Given the description of an element on the screen output the (x, y) to click on. 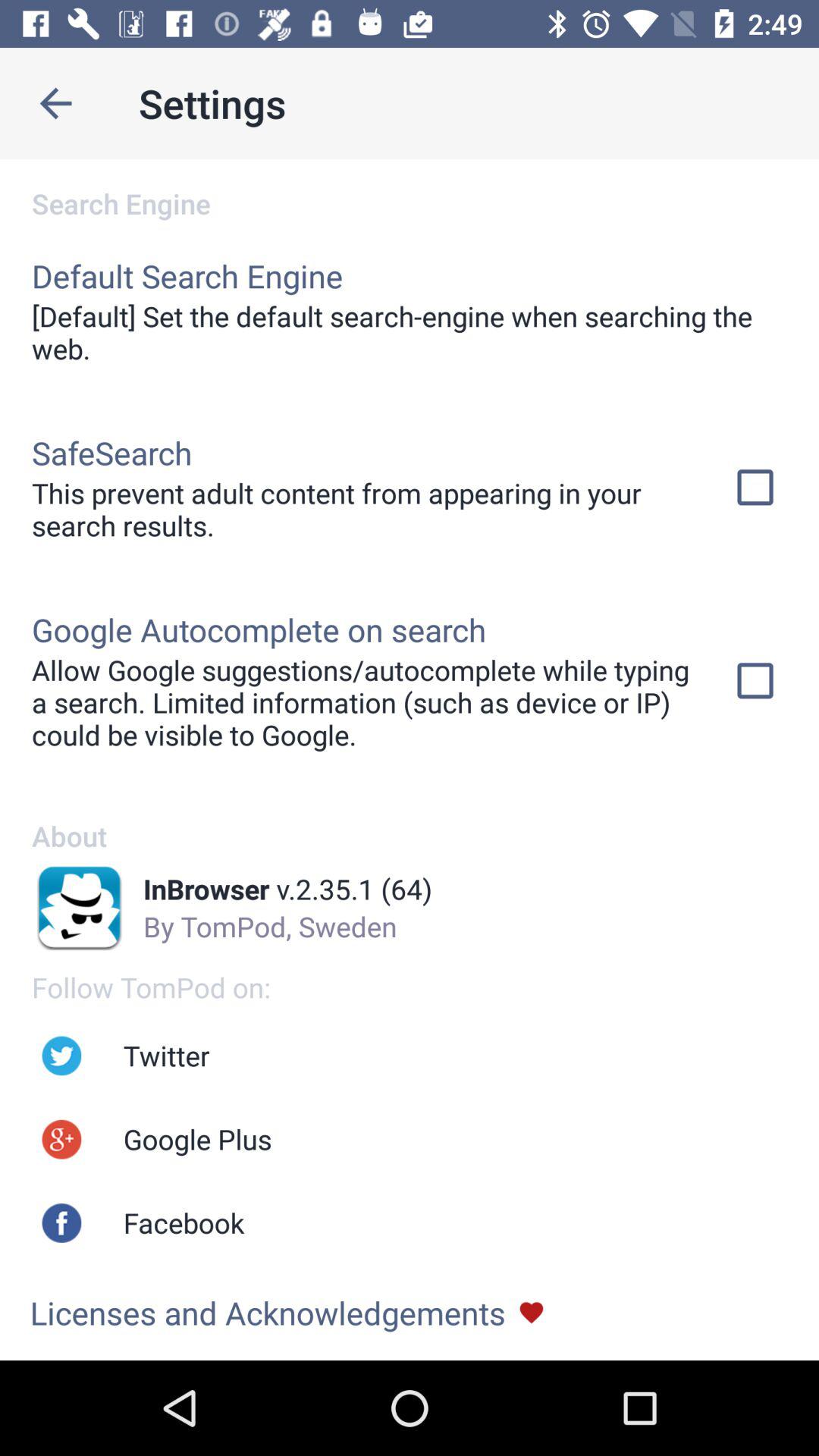
choose icon below follow tompod on: item (166, 1055)
